Given the description of an element on the screen output the (x, y) to click on. 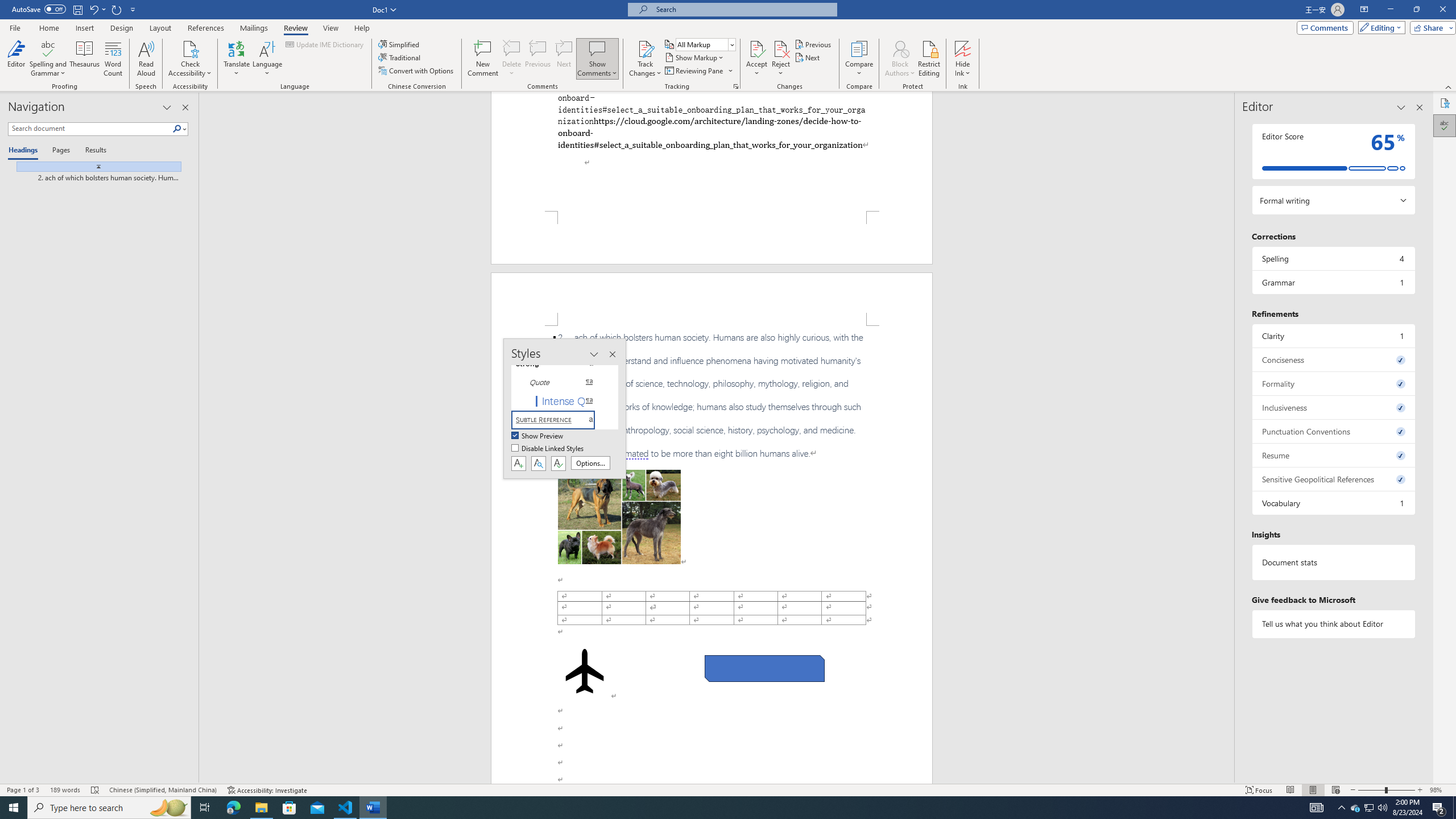
Strong (559, 363)
Insert (83, 28)
Microsoft search (742, 9)
Editor (16, 58)
Update IME Dictionary... (324, 44)
AutoSave (38, 9)
Read Mode (1290, 790)
Track Changes (644, 48)
Accessibility (1444, 102)
System (6, 6)
Task Pane Options (1400, 107)
Block Authors (900, 48)
Undo Style (96, 9)
